Given the description of an element on the screen output the (x, y) to click on. 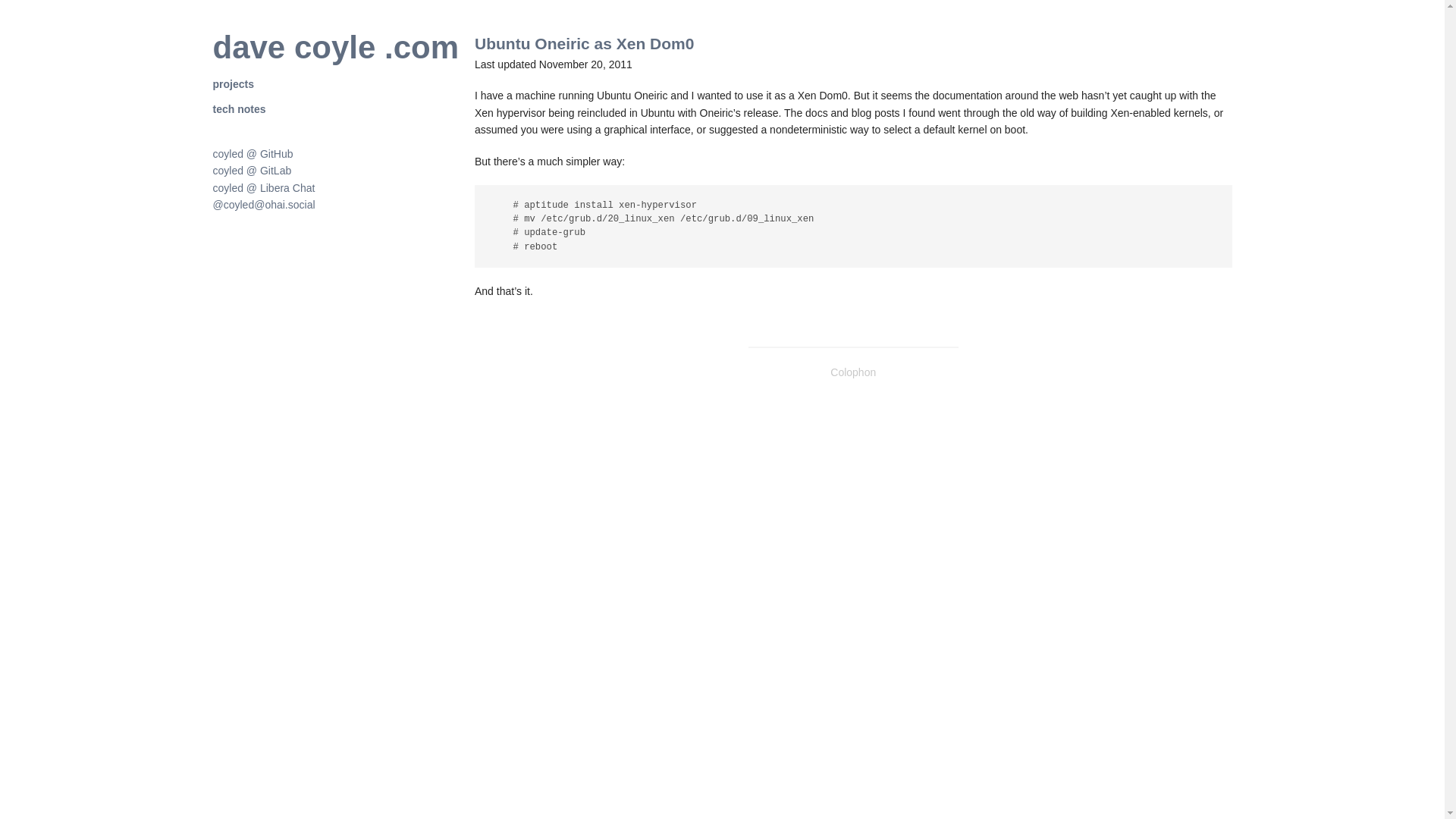
Ubuntu Oneiric as Xen Dom0 (584, 43)
tech notes (238, 109)
Colophon (852, 372)
projects (232, 83)
dave coyle .com (335, 47)
